Given the description of an element on the screen output the (x, y) to click on. 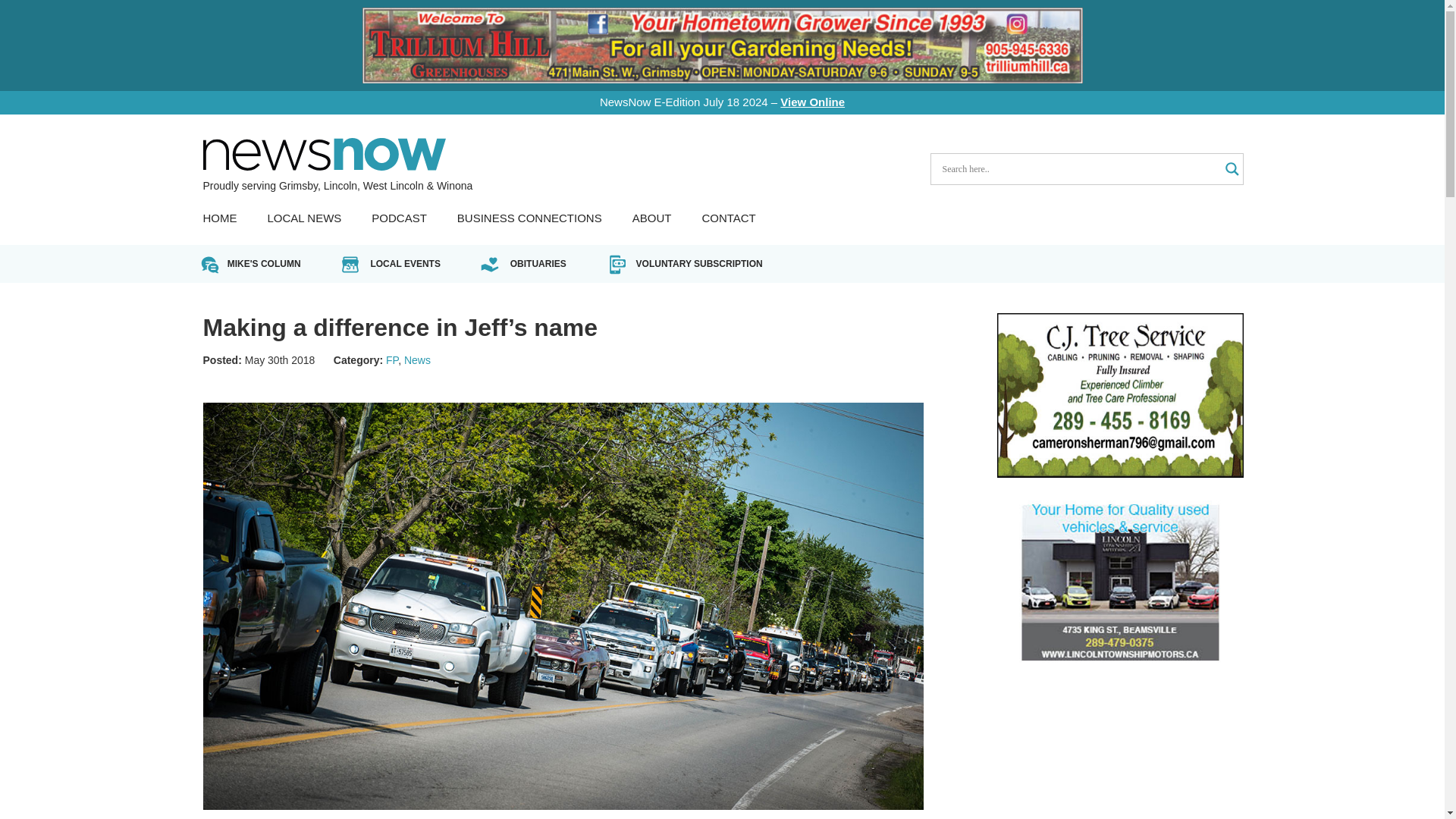
CONTACT (728, 218)
HOME (220, 218)
View Online (812, 101)
LOCAL NEWS (303, 218)
BUSINESS CONNECTIONS (529, 218)
PODCAST (398, 218)
ABOUT (651, 218)
